Given the description of an element on the screen output the (x, y) to click on. 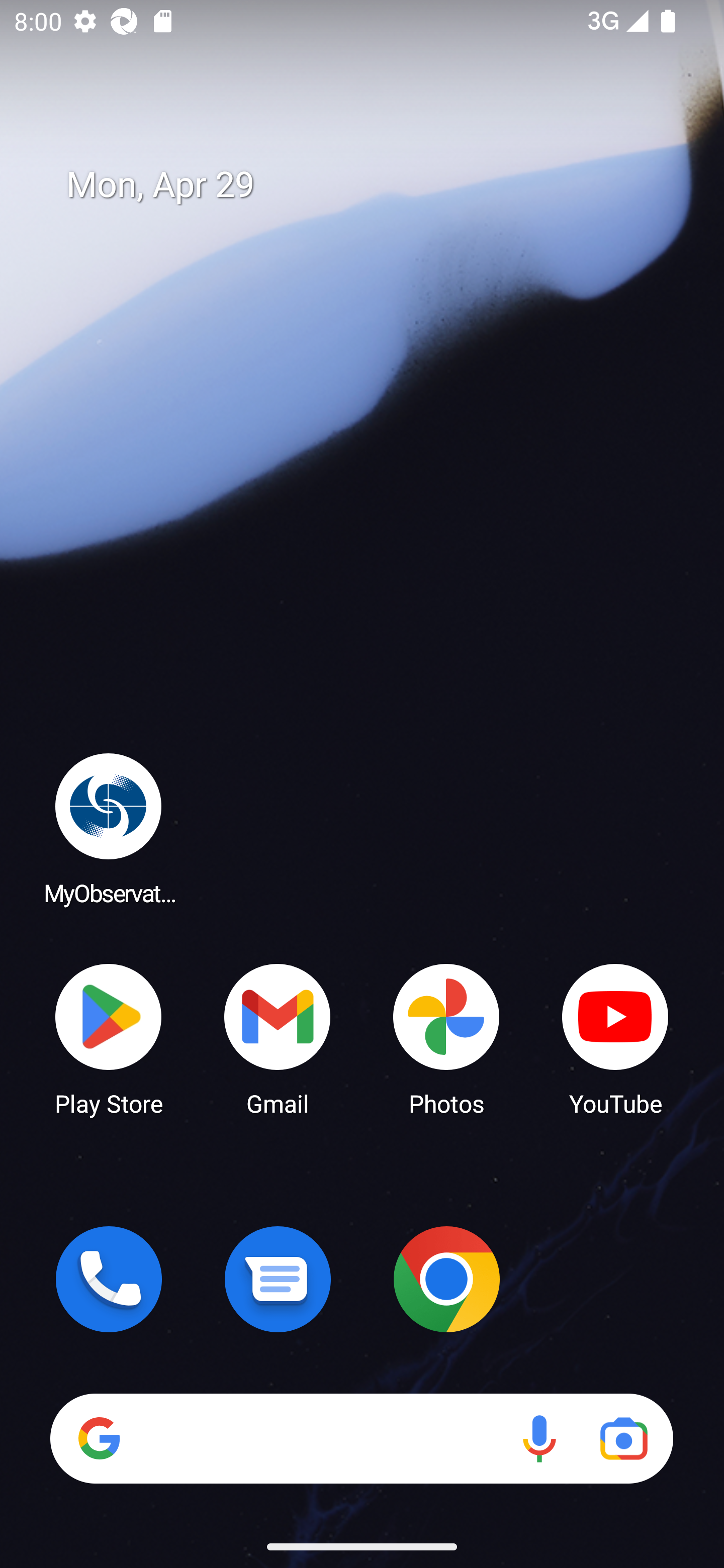
Mon, Apr 29 (375, 184)
MyObservatory (108, 828)
Play Store (108, 1038)
Gmail (277, 1038)
Photos (445, 1038)
YouTube (615, 1038)
Phone (108, 1279)
Messages (277, 1279)
Chrome (446, 1279)
Voice search (539, 1438)
Google Lens (623, 1438)
